Given the description of an element on the screen output the (x, y) to click on. 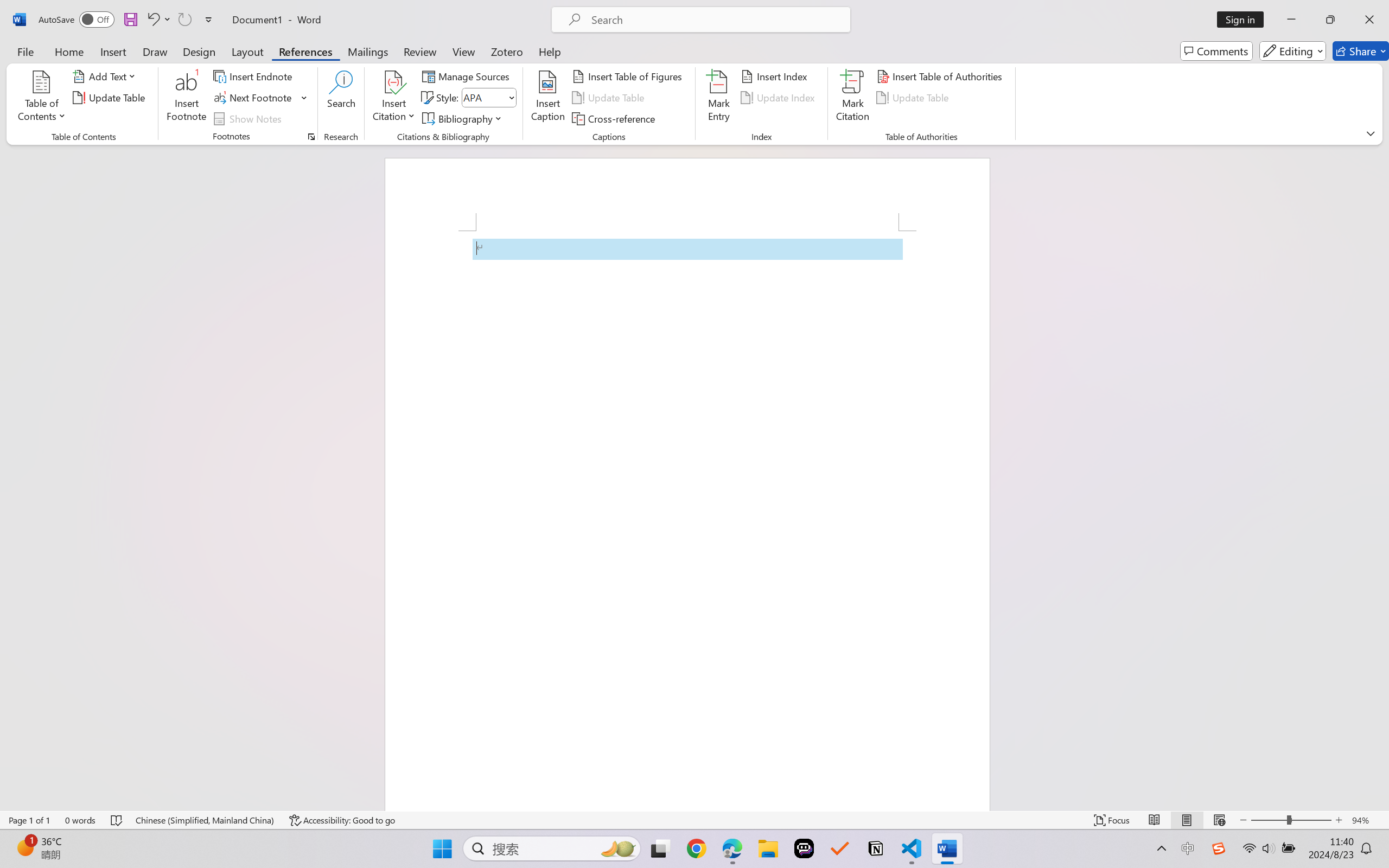
Insert Table of Figures... (628, 75)
Insert Citation (393, 97)
Insert Endnote (253, 75)
Bibliography (463, 118)
Undo Apply Quick Style (158, 19)
Insert Caption... (547, 97)
Insert Table of Authorities... (941, 75)
